Given the description of an element on the screen output the (x, y) to click on. 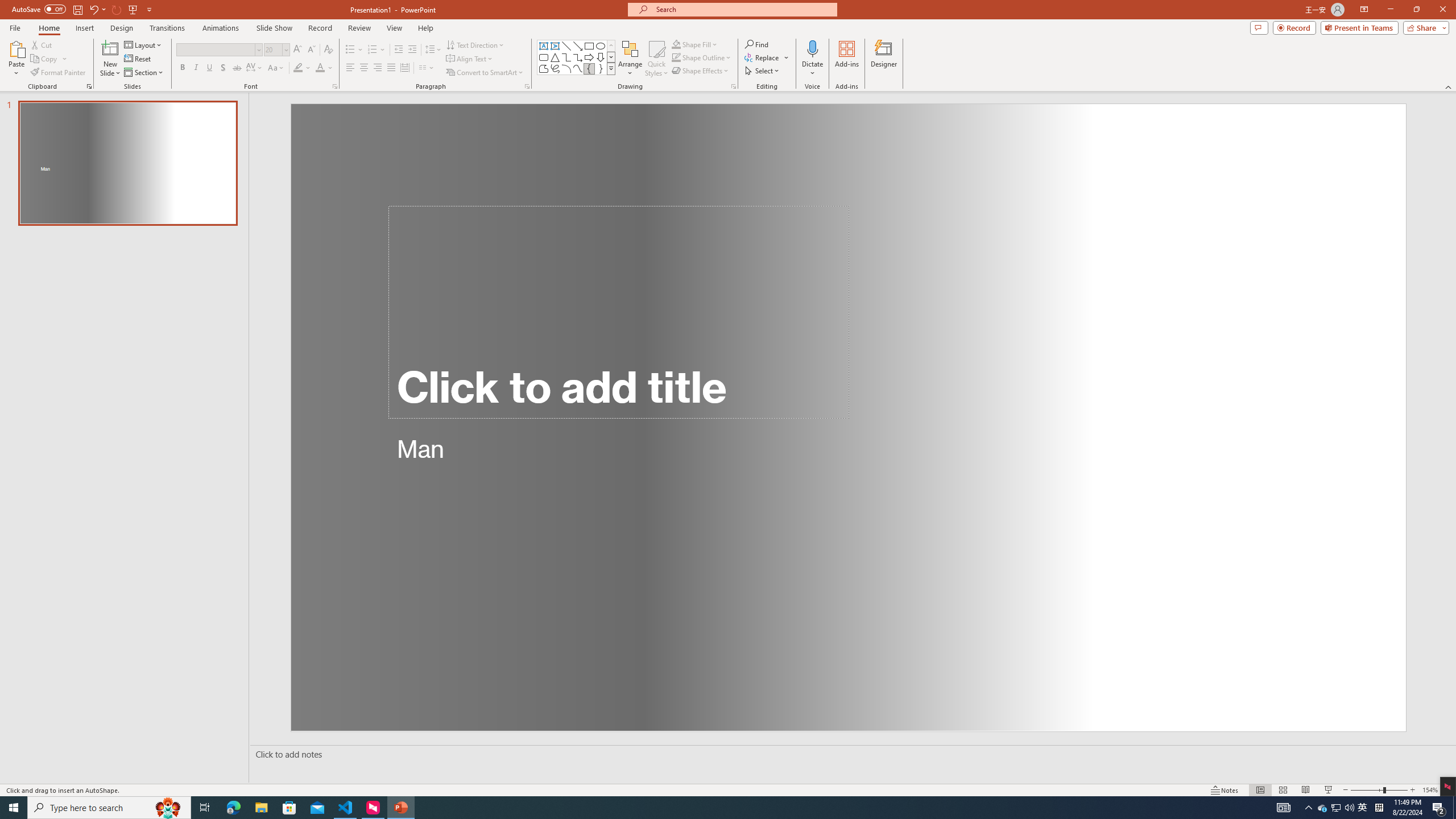
Decrease Font Size (310, 49)
Increase Indent (412, 49)
Arrow: Right (589, 57)
Freeform: Scribble (554, 68)
Change Case (276, 67)
Oval (600, 45)
